Given the description of an element on the screen output the (x, y) to click on. 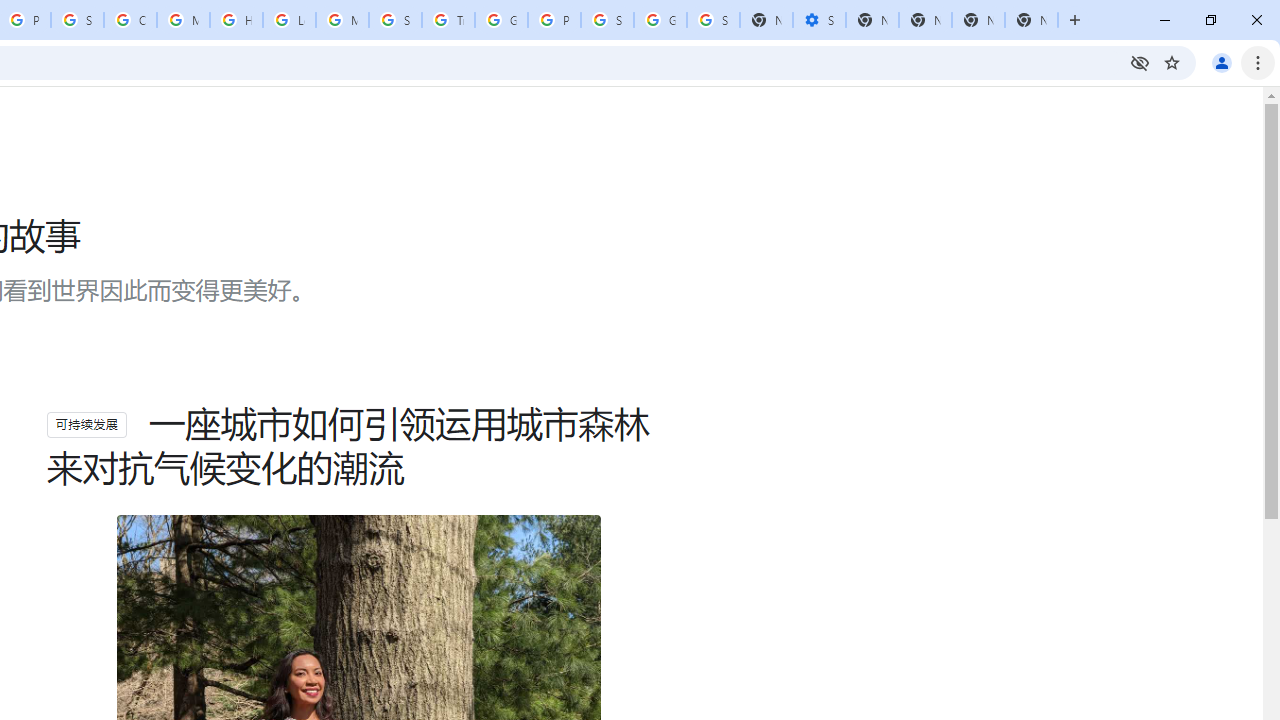
Sign in - Google Accounts (713, 20)
Sign in - Google Accounts (607, 20)
Trusted Information and Content - Google Safety Center (448, 20)
Google Ads - Sign in (501, 20)
